Given the description of an element on the screen output the (x, y) to click on. 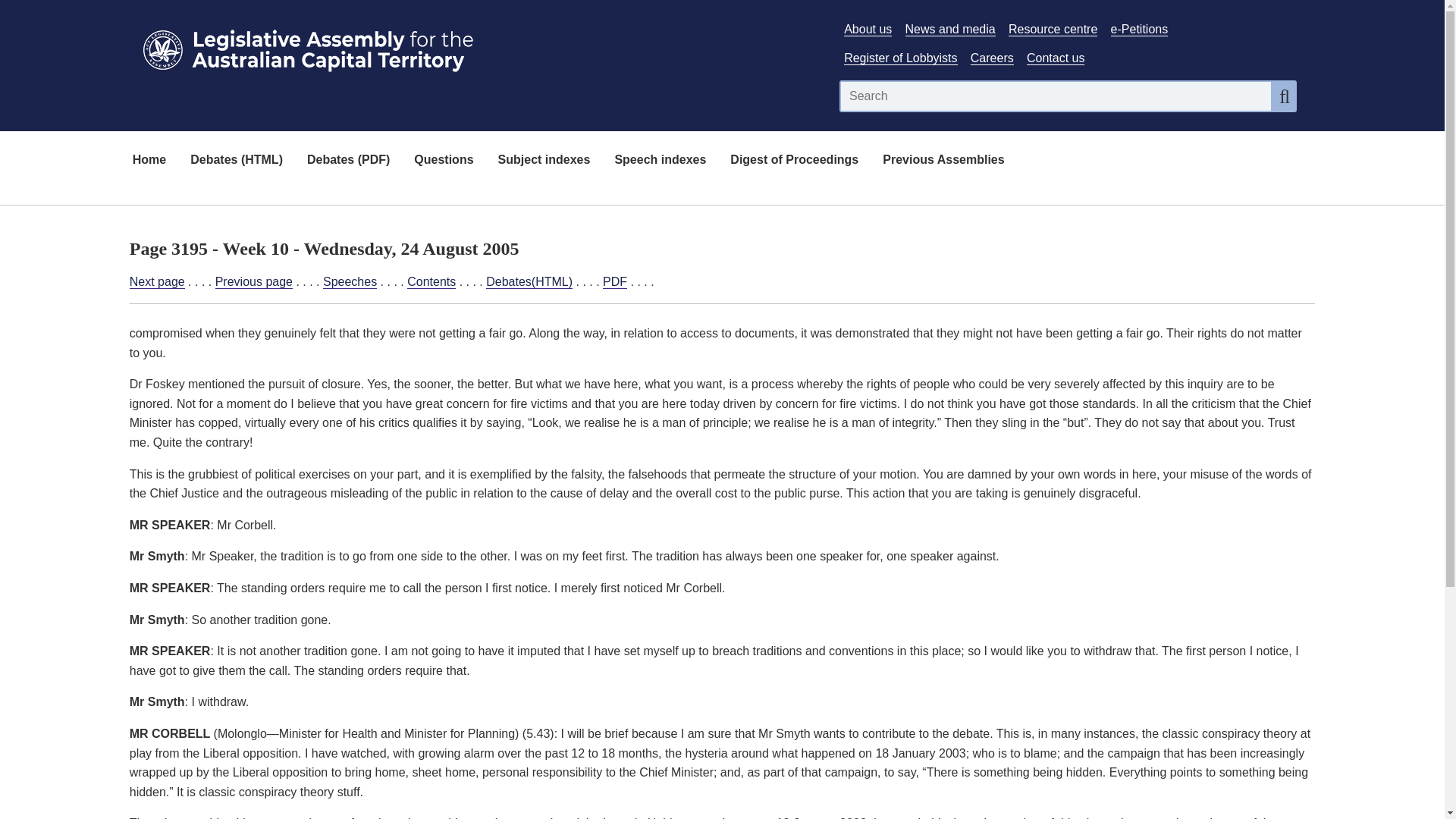
Link to News and media (950, 29)
News and media (950, 29)
Speeches (350, 282)
Link to Resource centre (1053, 29)
Questions (442, 160)
About us (867, 29)
PDF (614, 282)
Link to Contact Us (1055, 58)
Home (148, 160)
Subject indexes (544, 160)
e-Petitions (1139, 29)
Contents (431, 282)
Speech indexes (659, 160)
Resource centre (1053, 29)
Link to Careers (992, 58)
